Given the description of an element on the screen output the (x, y) to click on. 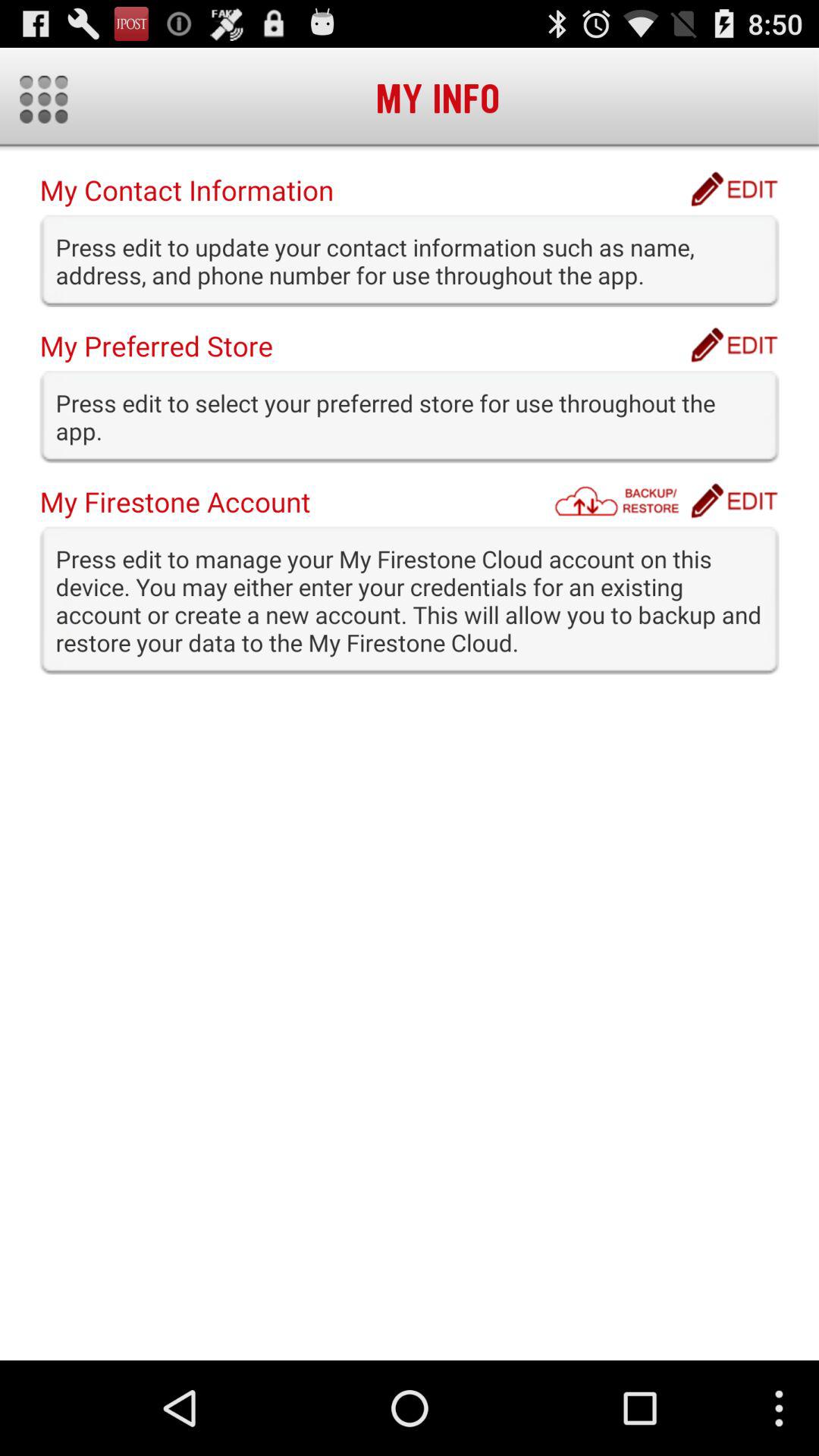
turn off the item below press edit to item (621, 500)
